Given the description of an element on the screen output the (x, y) to click on. 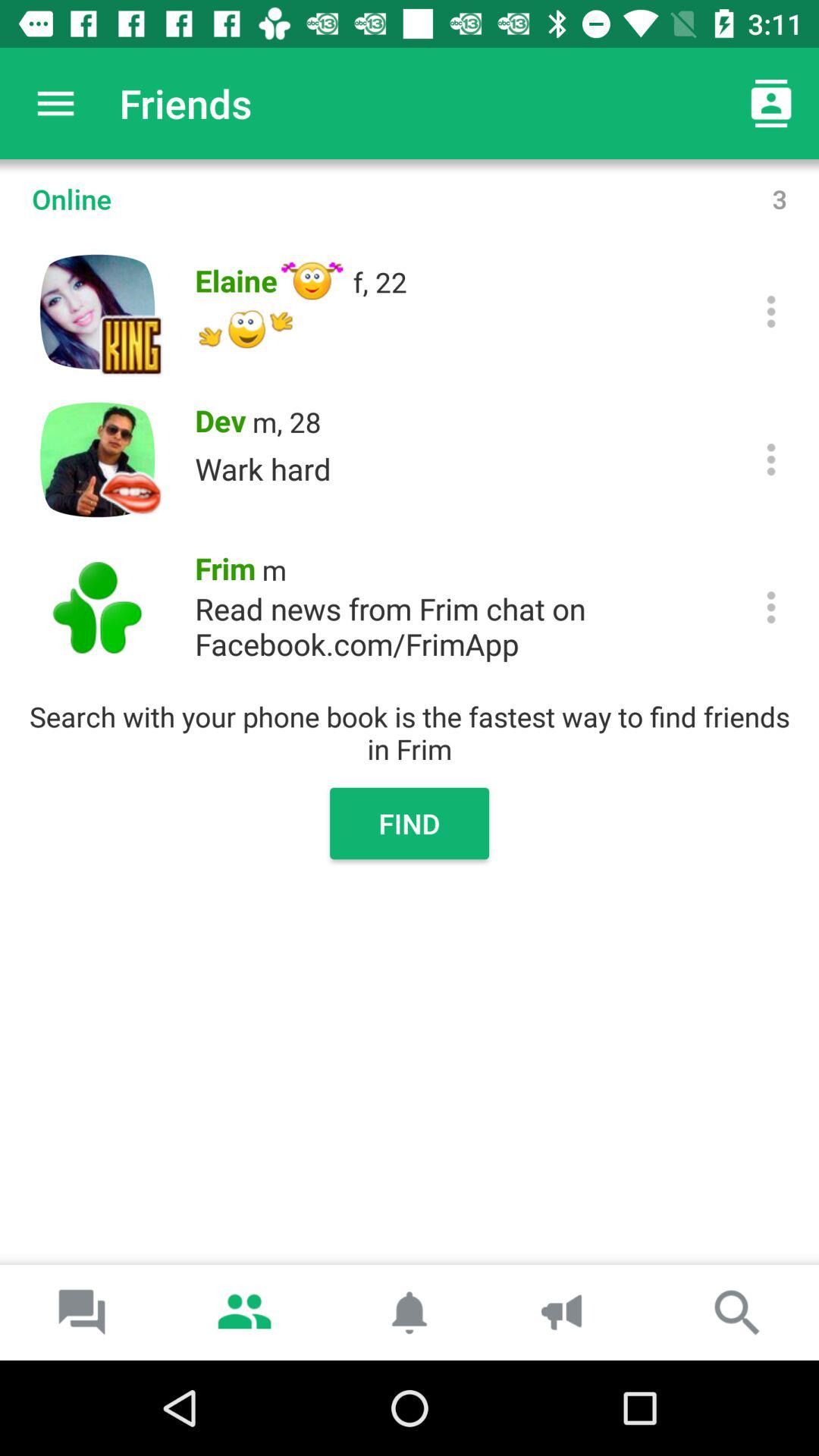
options (771, 459)
